Given the description of an element on the screen output the (x, y) to click on. 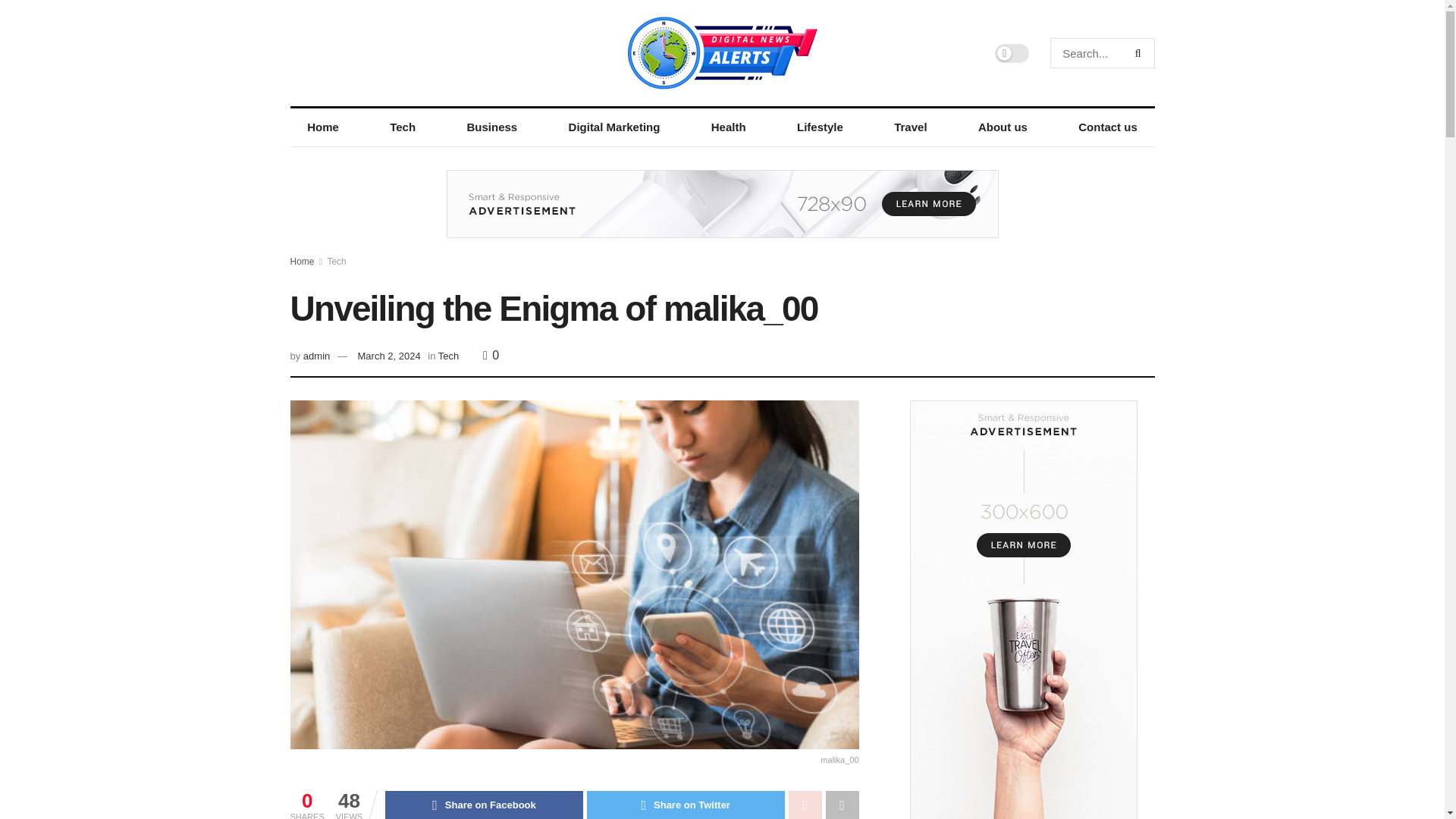
Home (301, 261)
About us (1001, 127)
March 2, 2024 (389, 355)
Health (728, 127)
Contact us (1107, 127)
Tech (448, 355)
admin (316, 355)
0 (491, 354)
Lifestyle (819, 127)
Share on Facebook (484, 805)
Home (322, 127)
Tech (402, 127)
Share on Twitter (685, 805)
Travel (910, 127)
Digital Marketing (614, 127)
